Given the description of an element on the screen output the (x, y) to click on. 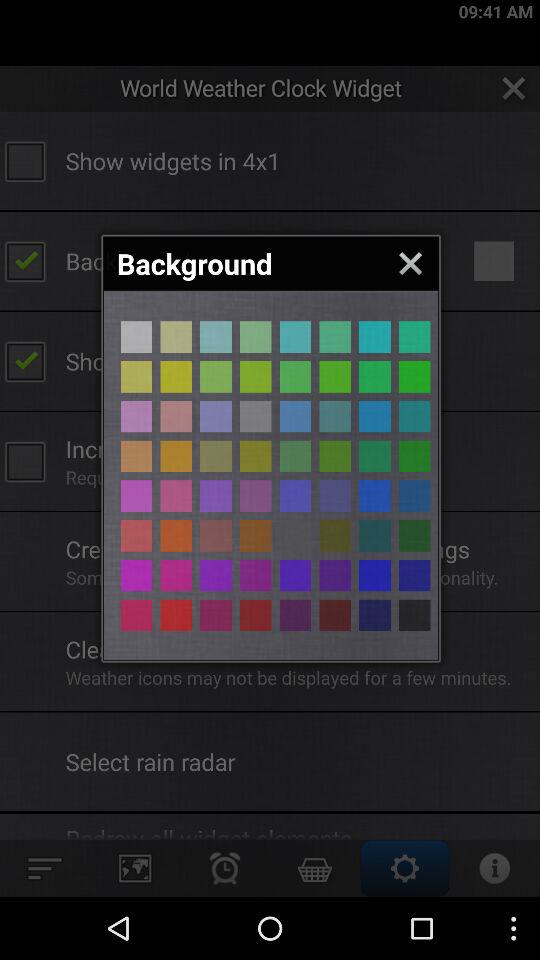
back ground button (335, 495)
